Given the description of an element on the screen output the (x, y) to click on. 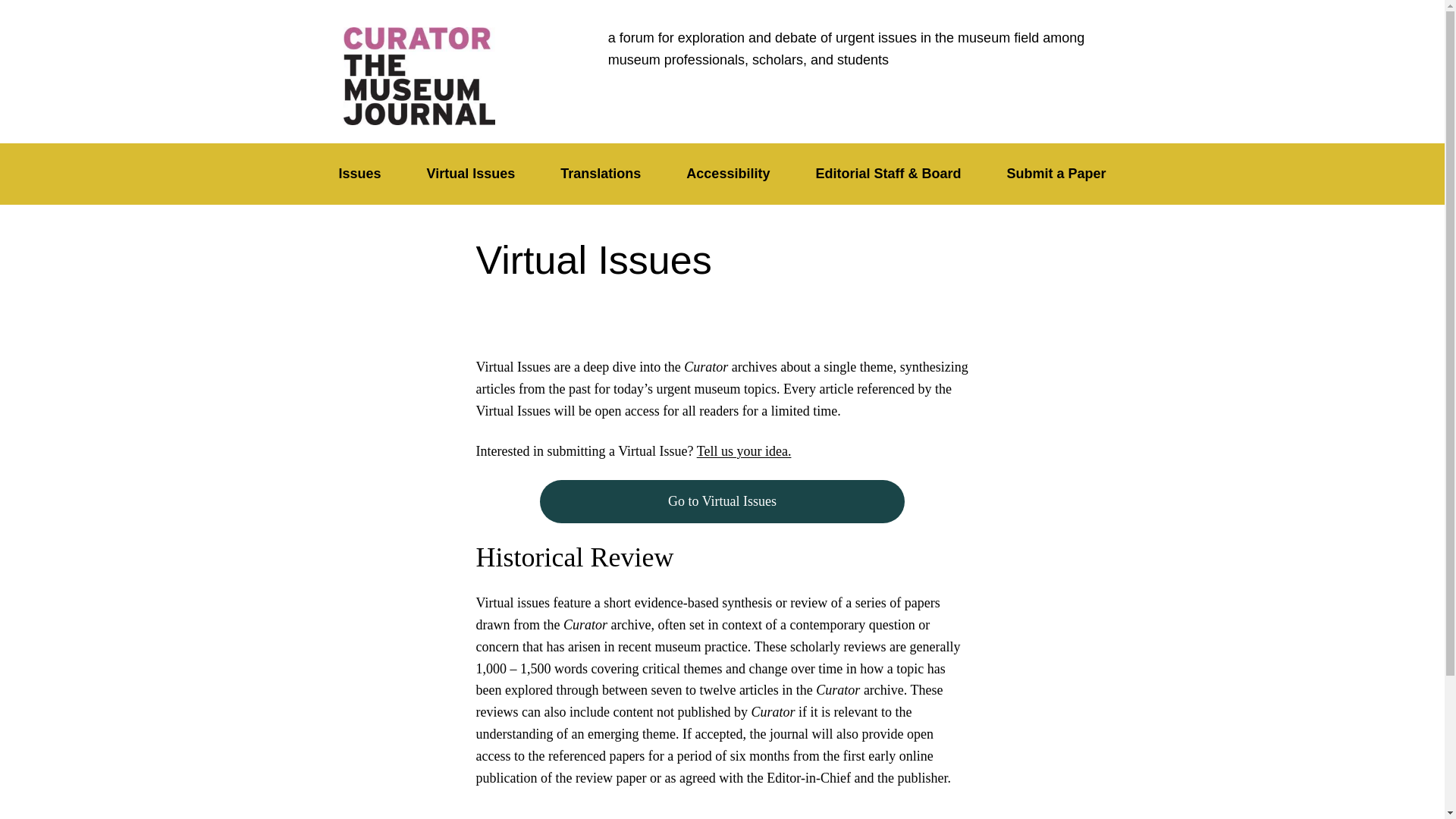
Tell us your idea. (744, 450)
Issues (359, 173)
Virtual Issues (471, 173)
Submit a Paper (1055, 173)
Go to Virtual Issues (722, 501)
Accessibility (727, 173)
Translations (600, 173)
